Given the description of an element on the screen output the (x, y) to click on. 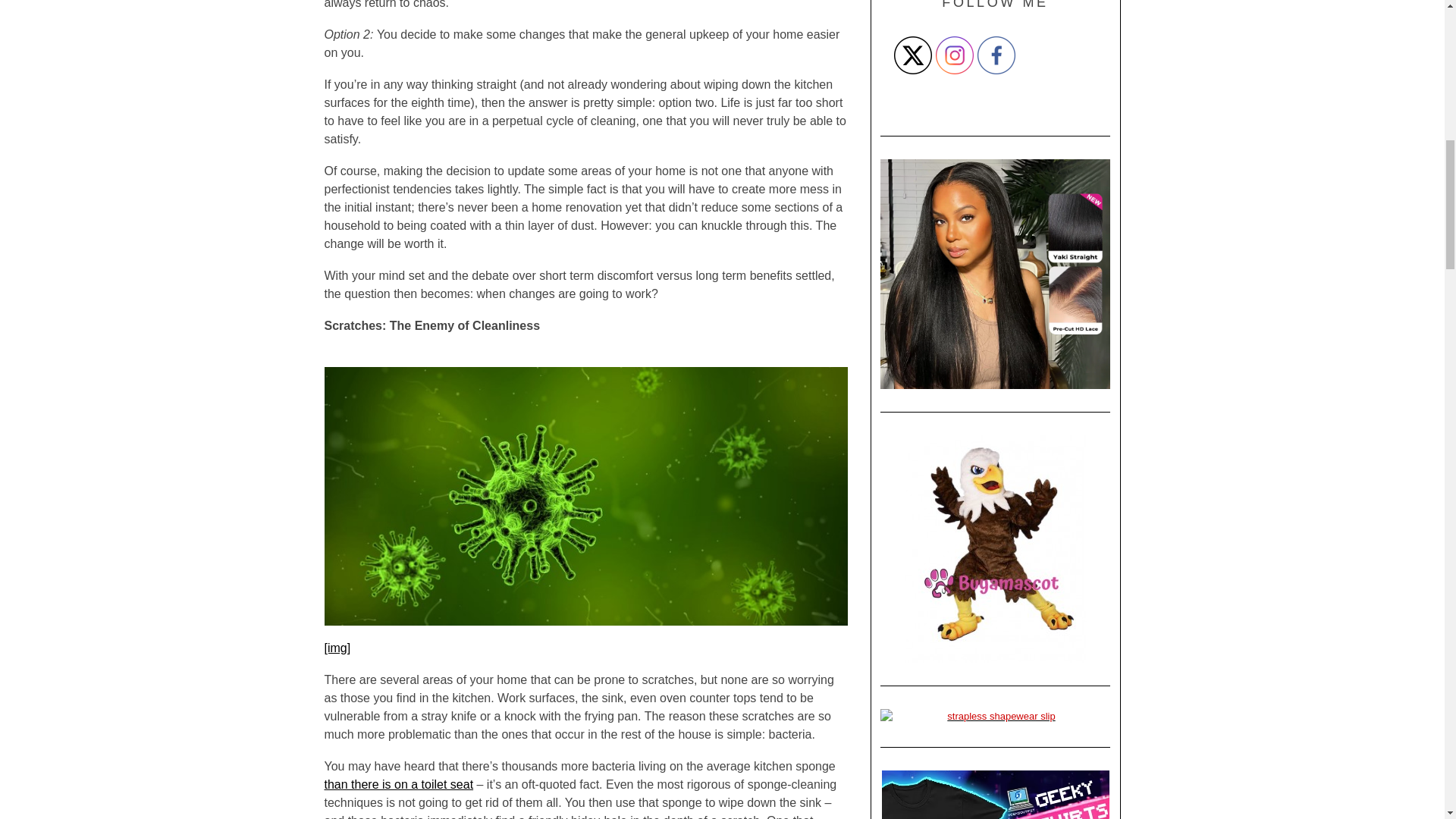
Twitter (912, 55)
geek t shirt (994, 794)
Facebook (995, 55)
Affordbable Mascot Costumes for Every Event - Buyamascot.com (994, 548)
Instagram (955, 55)
